Given the description of an element on the screen output the (x, y) to click on. 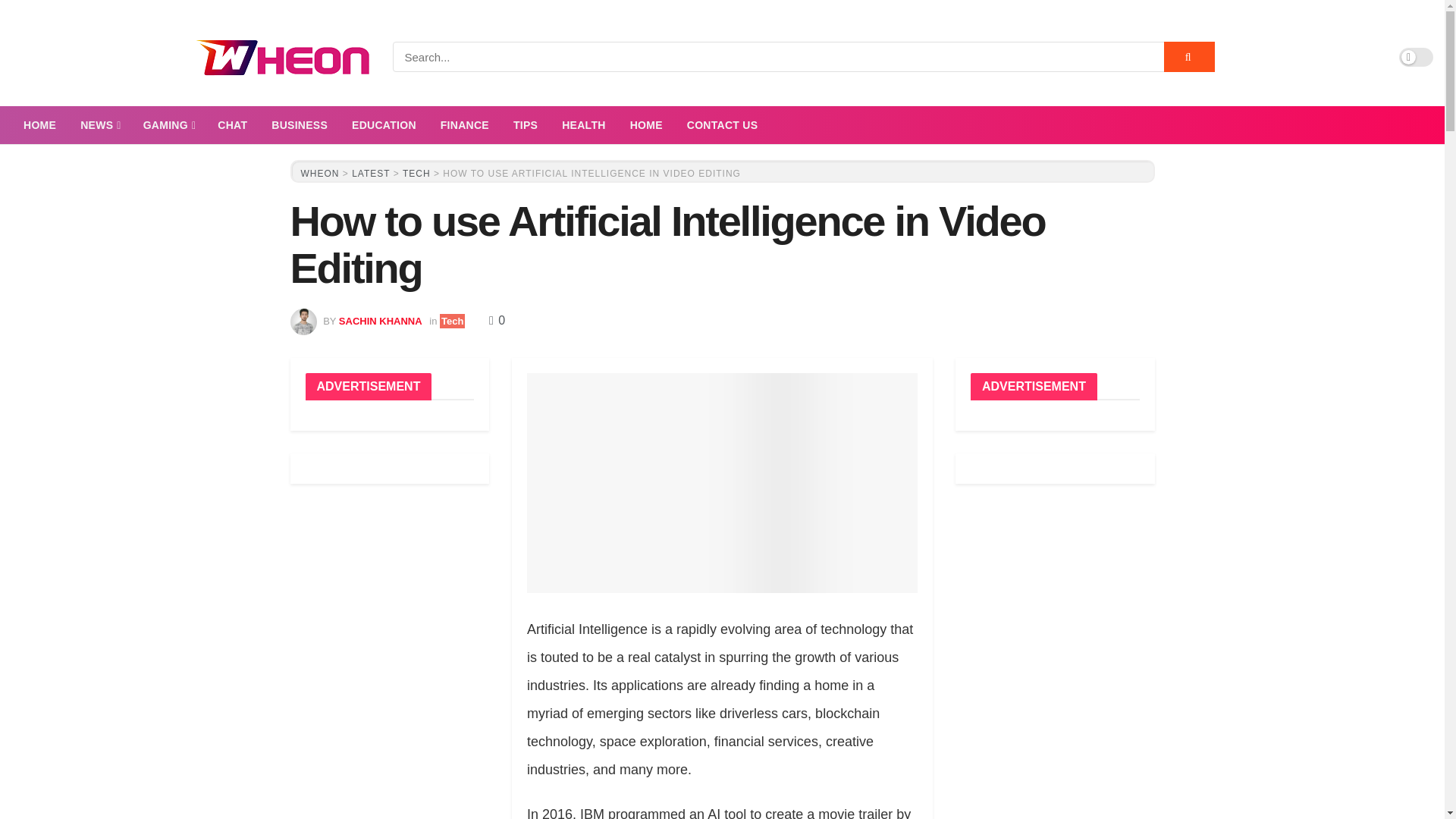
TECH (416, 173)
0 (497, 319)
CONTACT US (722, 125)
LATEST (371, 173)
Go to Latest. (371, 173)
FINANCE (464, 125)
NEWS (99, 125)
HOME (646, 125)
Go to Wheon. (319, 173)
Tech (451, 320)
GAMING (168, 125)
SACHIN KHANNA (380, 320)
TIPS (525, 125)
CHAT (232, 125)
EDUCATION (383, 125)
